Given the description of an element on the screen output the (x, y) to click on. 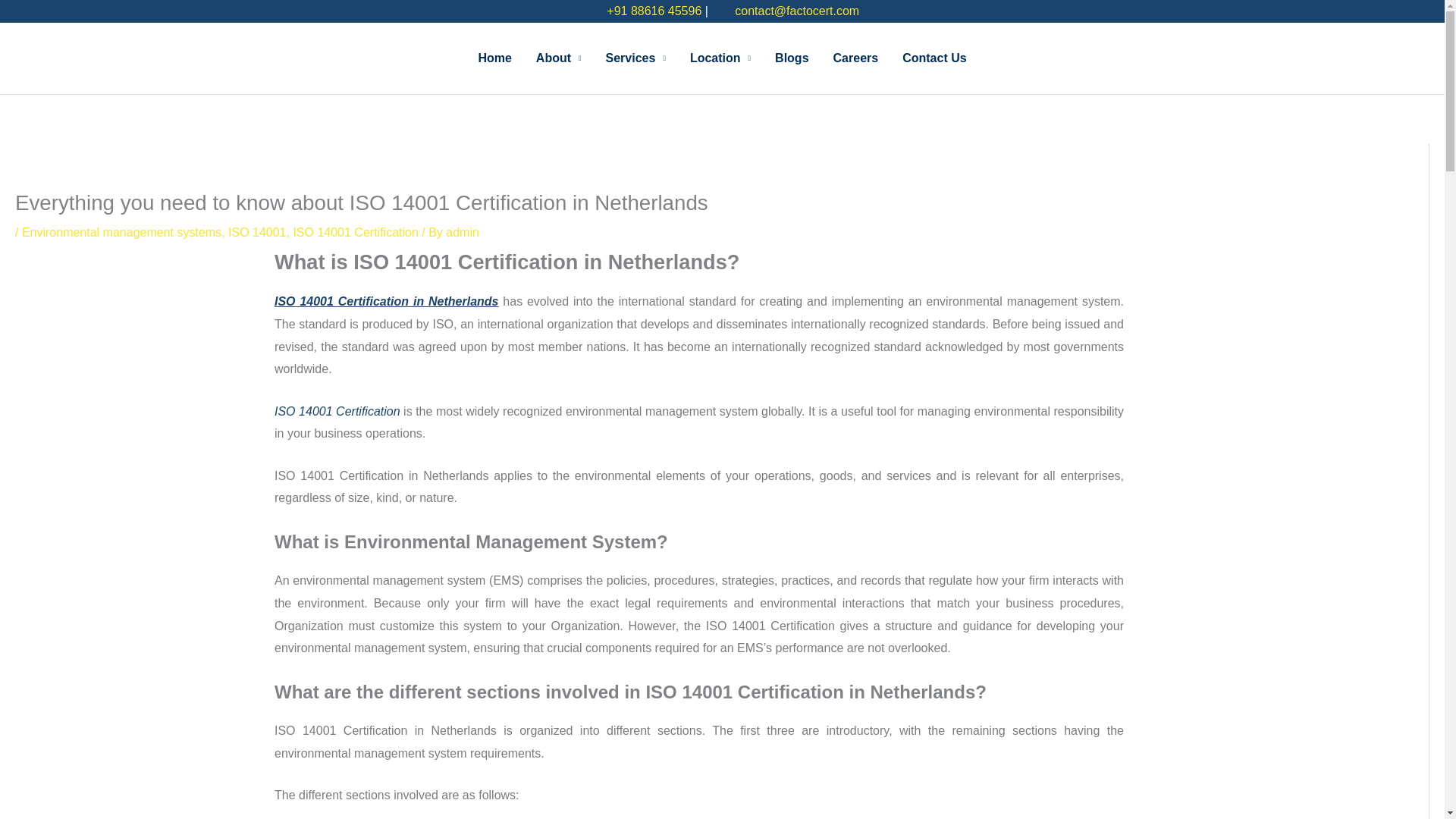
About (559, 57)
Services (636, 57)
Home (493, 57)
View all posts by admin (462, 232)
